Given the description of an element on the screen output the (x, y) to click on. 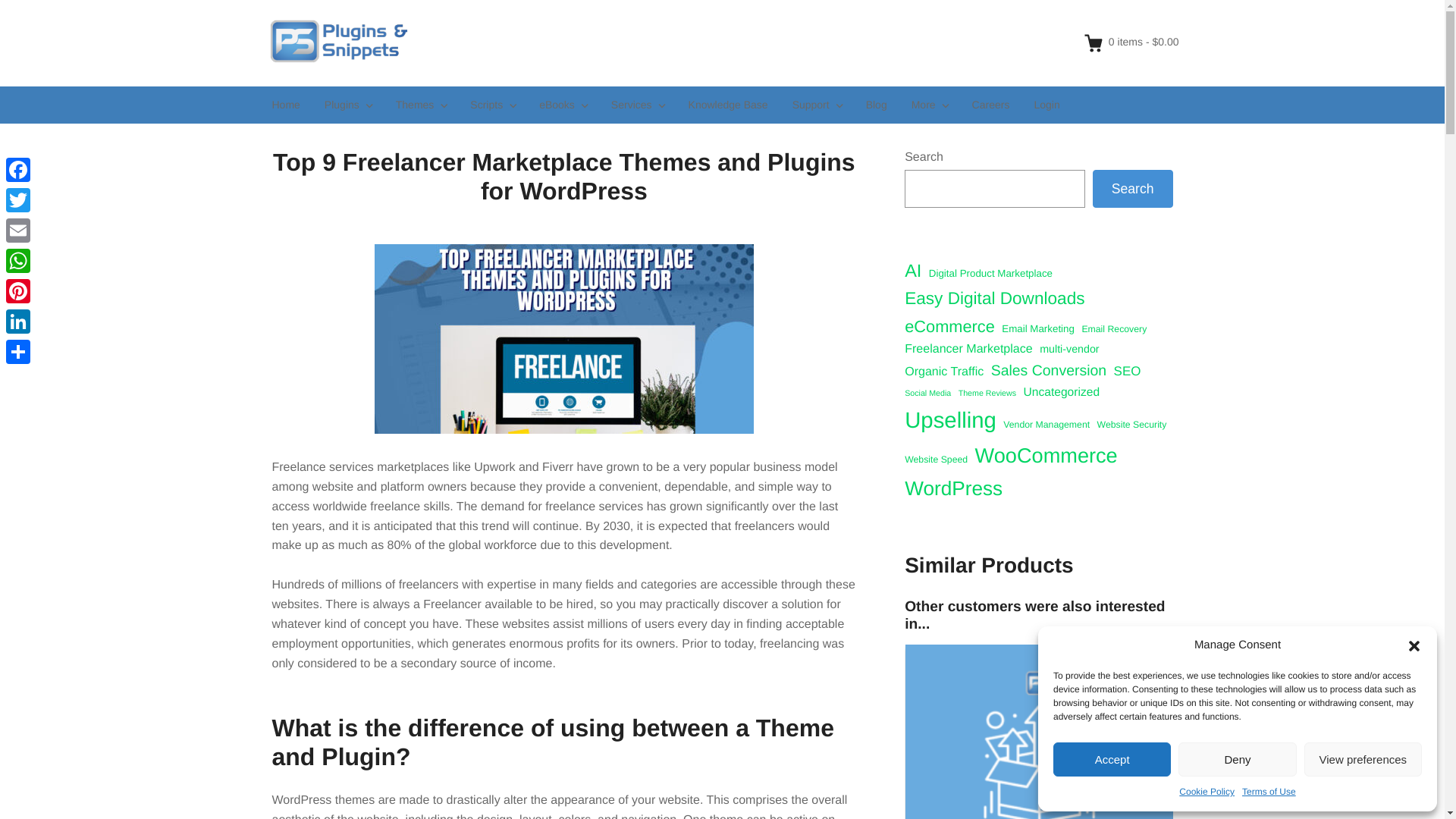
Cookie Policy (1206, 791)
Terms of Use (1268, 791)
Deny (1236, 759)
Accept (1111, 759)
View preferences (1363, 759)
